Given the description of an element on the screen output the (x, y) to click on. 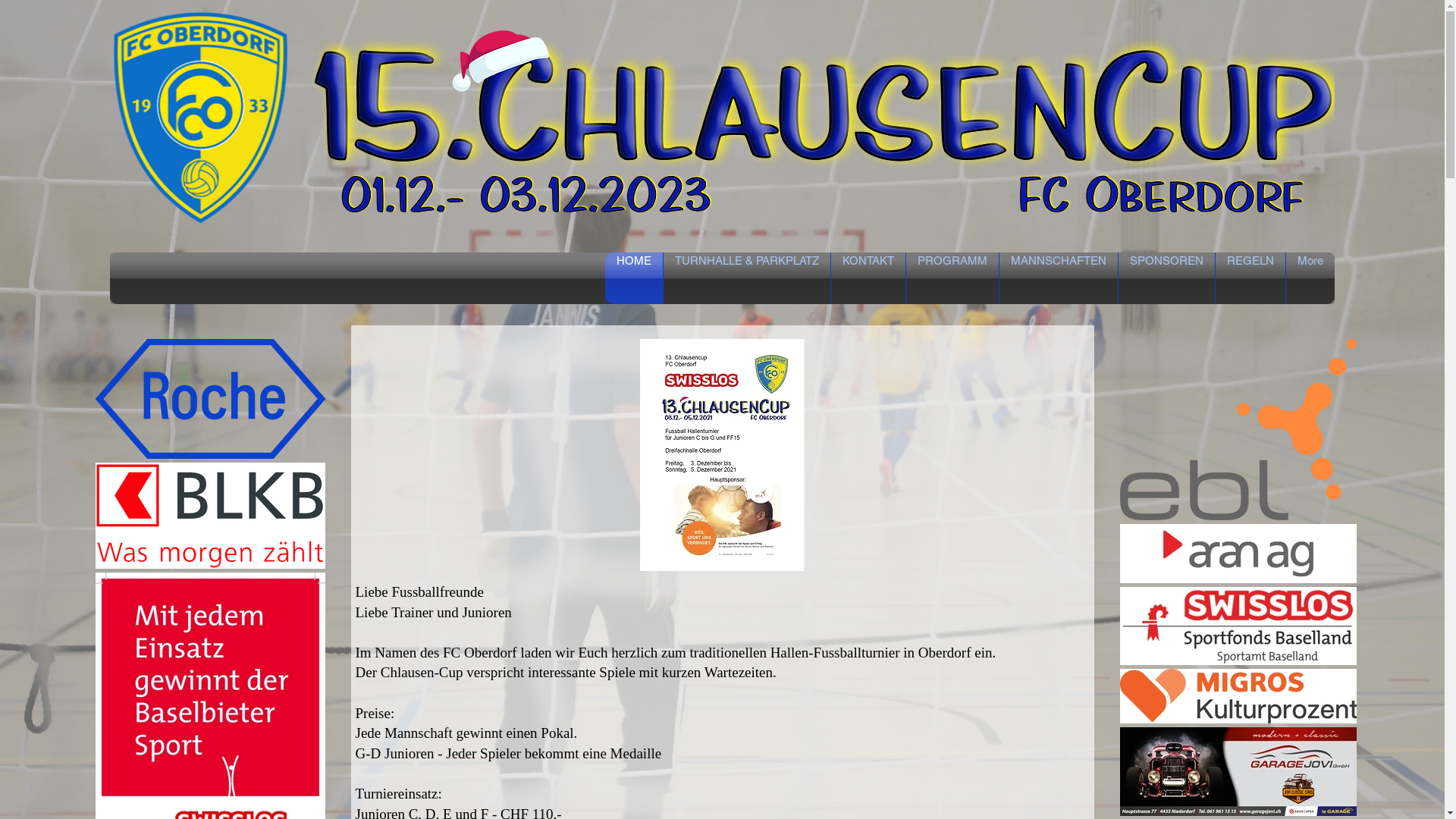
HOME Element type: text (633, 278)
MANNSCHAFTEN Element type: text (1058, 278)
SPONSOREN Element type: text (1165, 278)
TURNHALLE & PARKPLATZ Element type: text (745, 278)
REGELN Element type: text (1249, 278)
KONTAKT Element type: text (868, 278)
PROGRAMM Element type: text (951, 278)
